Given the description of an element on the screen output the (x, y) to click on. 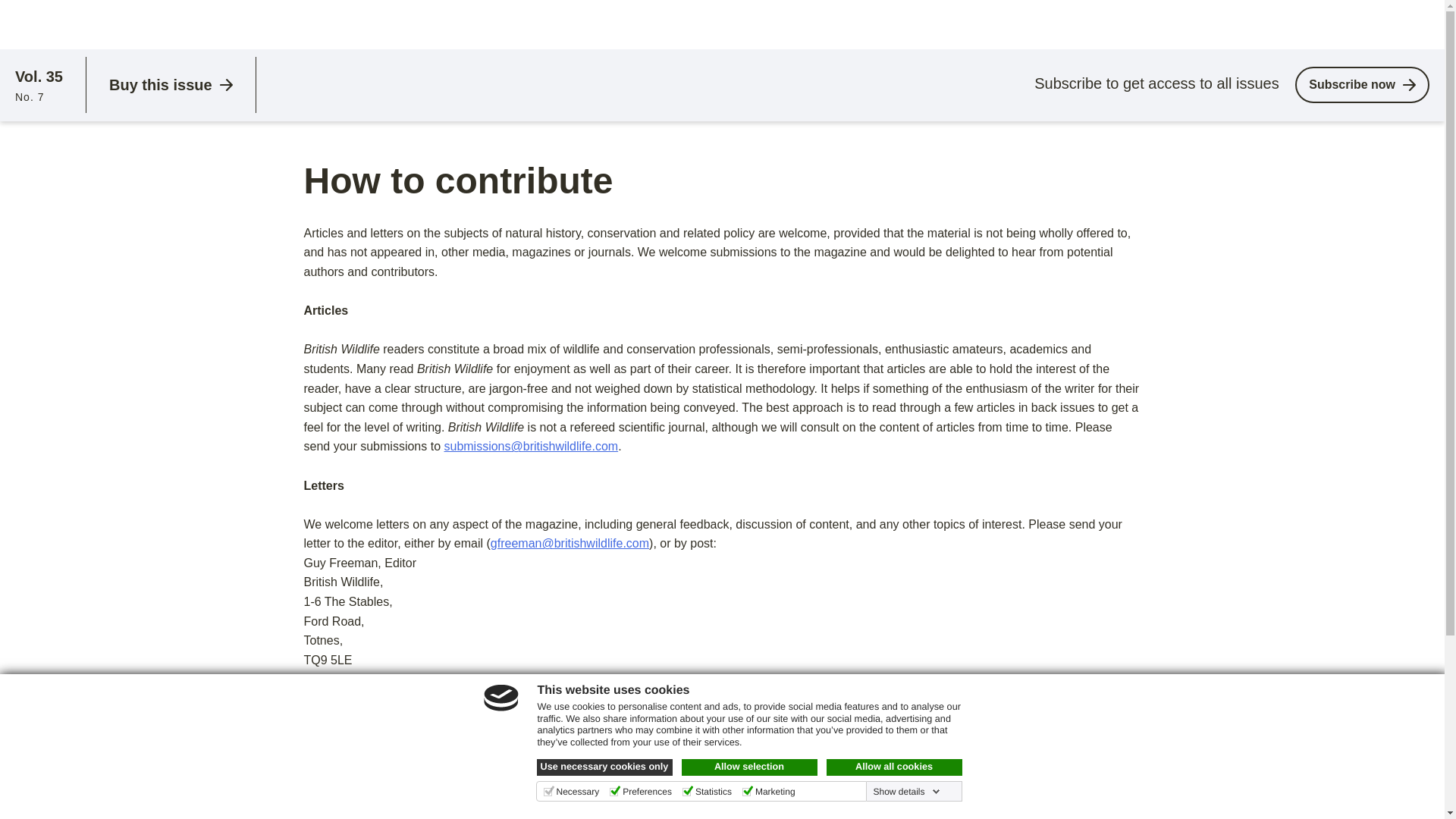
Back issues (103, 24)
Allow all cookies (894, 767)
About (1131, 24)
Use necessary cookies only (604, 767)
Help (1199, 24)
Home (36, 24)
